Given the description of an element on the screen output the (x, y) to click on. 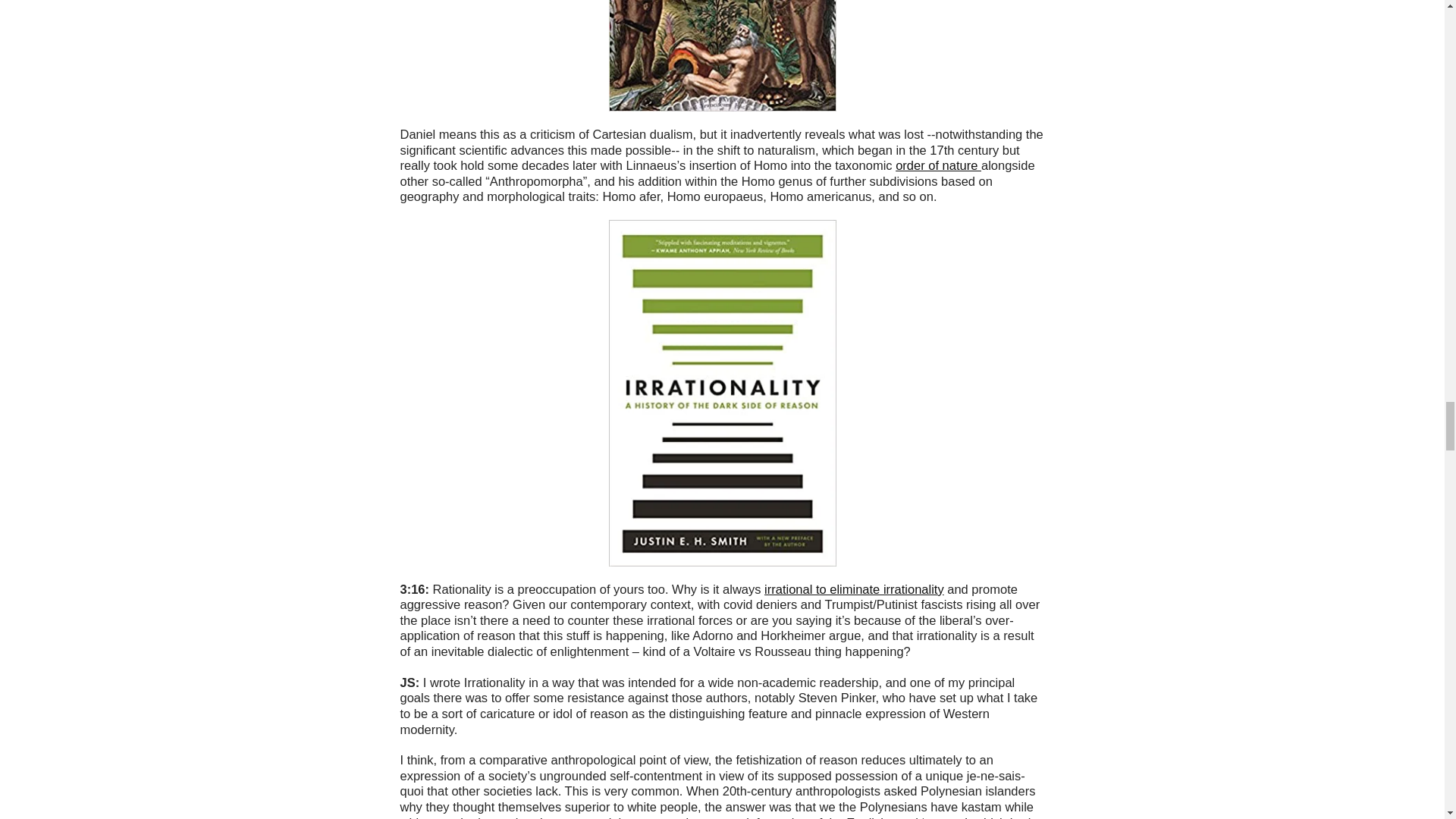
irrational to eliminate irrationality (853, 589)
order of nature  (938, 164)
